Given the description of an element on the screen output the (x, y) to click on. 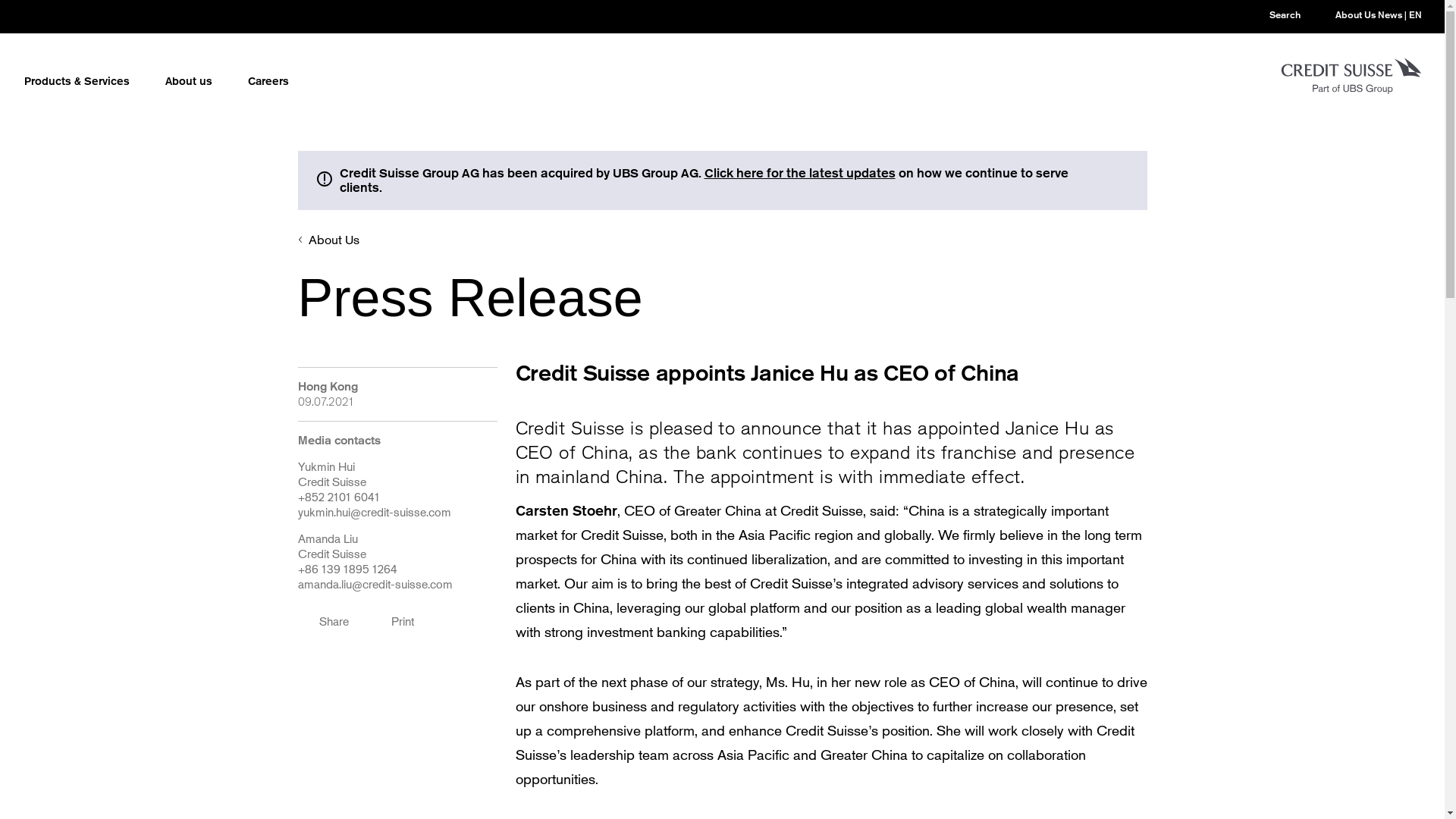
Search (1273, 14)
Search (1273, 14)
